Given the description of an element on the screen output the (x, y) to click on. 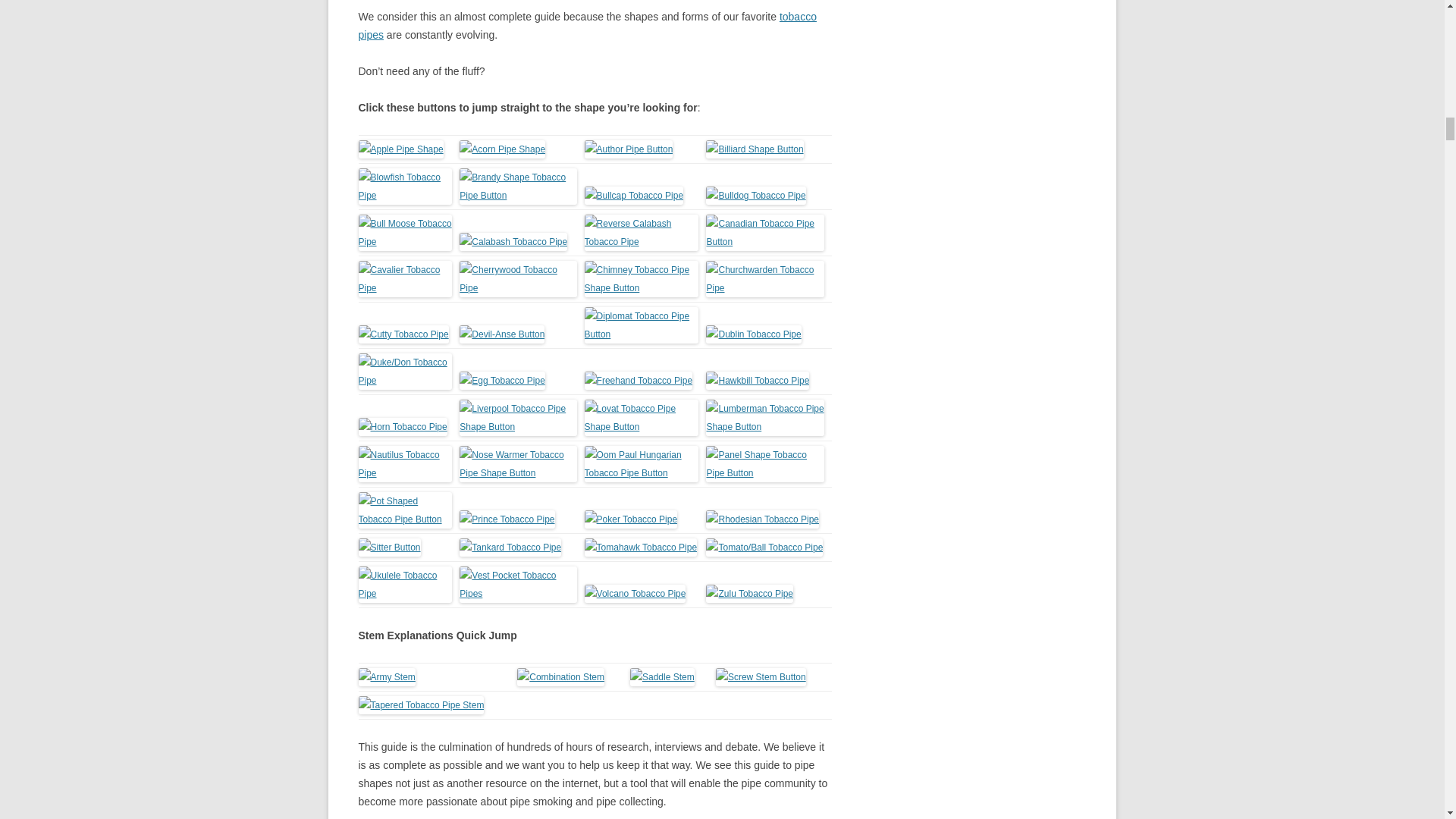
Tobacco Pipes (586, 25)
tobacco pipes (586, 25)
Acorn Shape Button (502, 149)
Author Tobacco Pipe (628, 149)
Acorn Shape (502, 149)
Apple Shape (400, 149)
Apple Shape Button (400, 149)
